Given the description of an element on the screen output the (x, y) to click on. 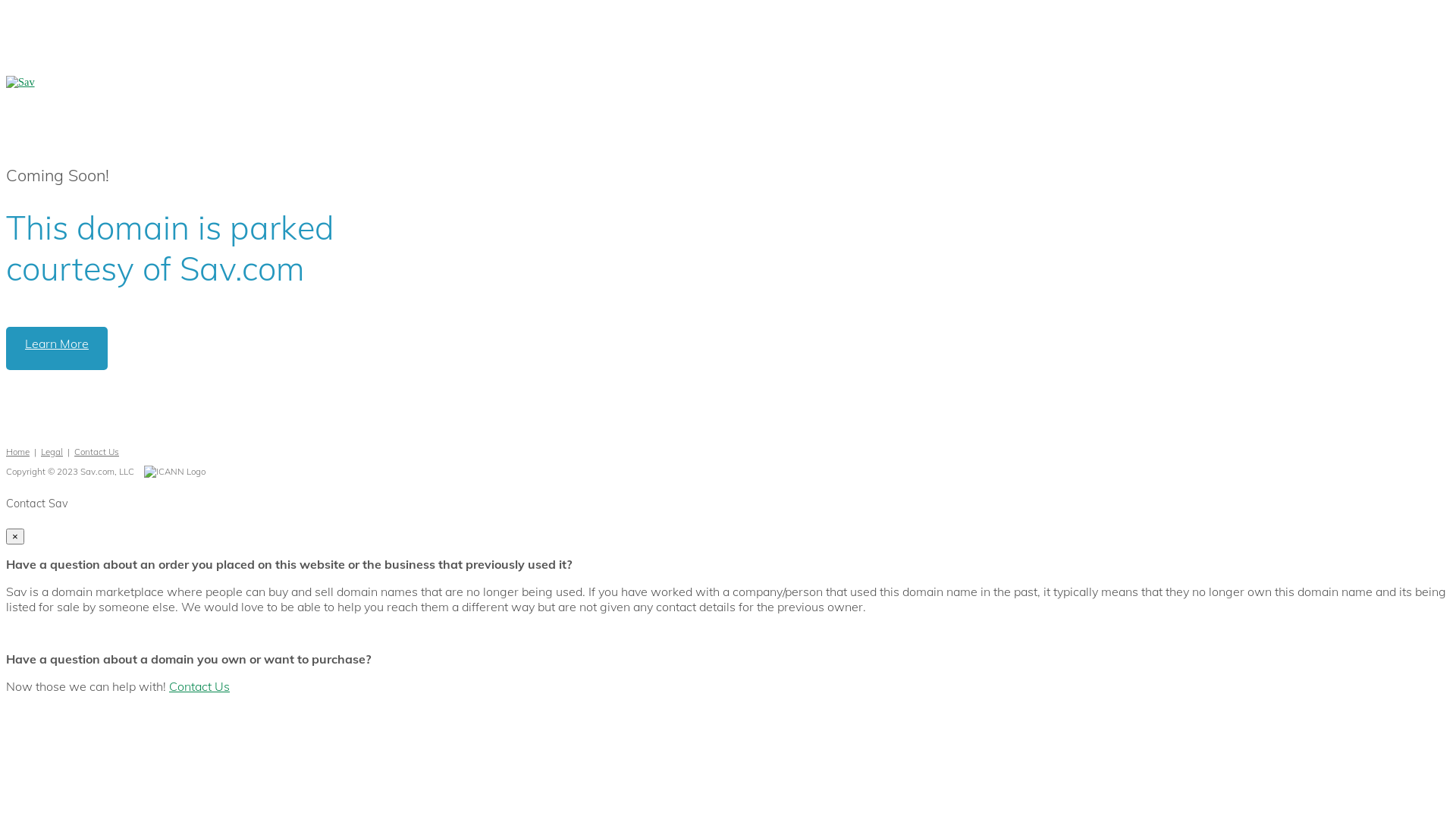
Home Element type: text (17, 451)
Legal Element type: text (51, 451)
Learn More Element type: text (56, 348)
Contact Us Element type: text (96, 451)
Contact Us Element type: text (199, 685)
